Given the description of an element on the screen output the (x, y) to click on. 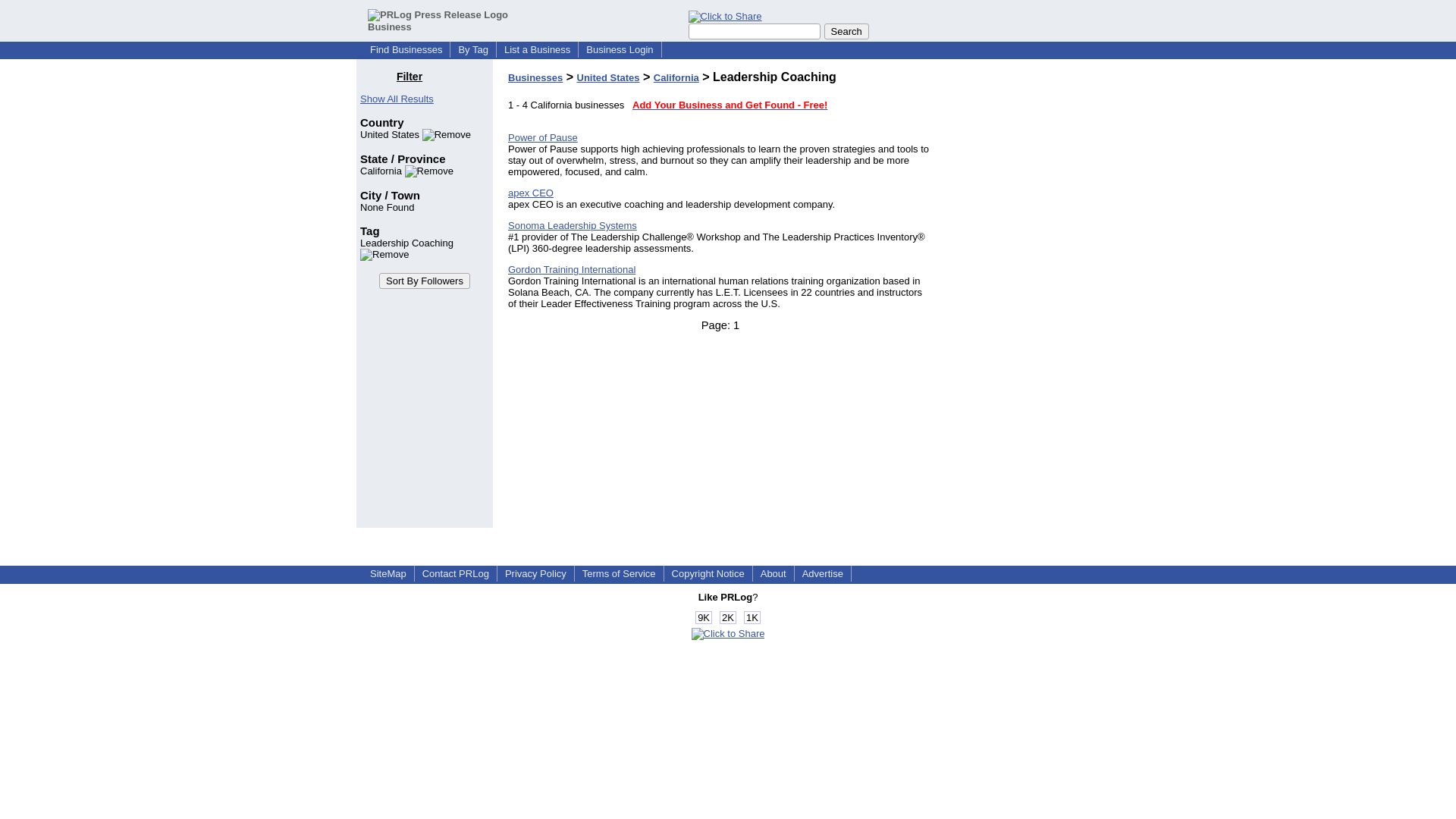
Click to remove this filter (414, 134)
Privacy Policy (535, 573)
Find Businesses (406, 49)
Share this page! (728, 633)
Sonoma Leadership Systems (572, 225)
Search (846, 31)
Share this page! (724, 16)
Businesses (535, 77)
Add Your Business and Get Found - Free! (729, 104)
Click to remove this filter (405, 248)
